Given the description of an element on the screen output the (x, y) to click on. 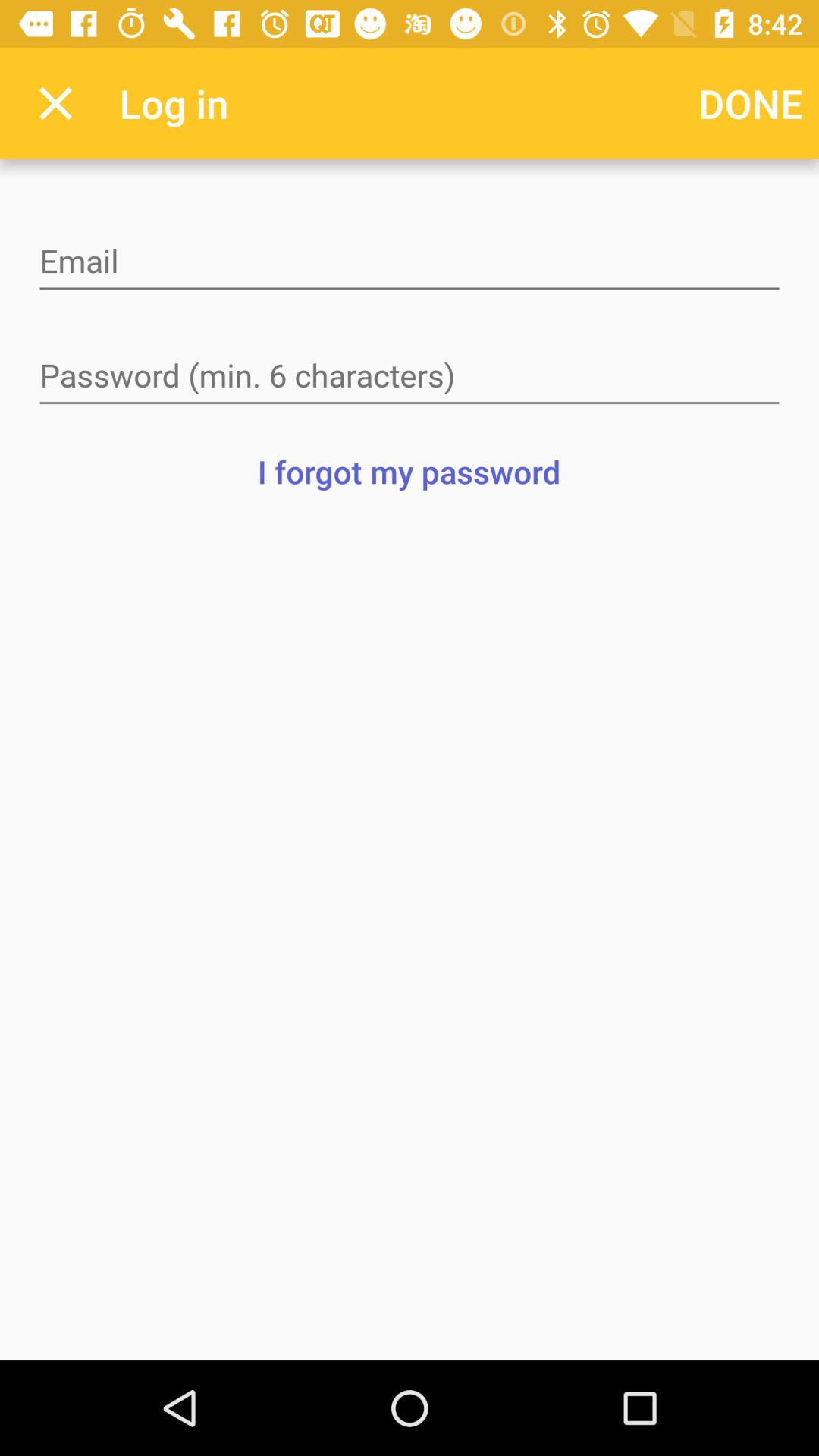
jump until the done item (750, 103)
